Given the description of an element on the screen output the (x, y) to click on. 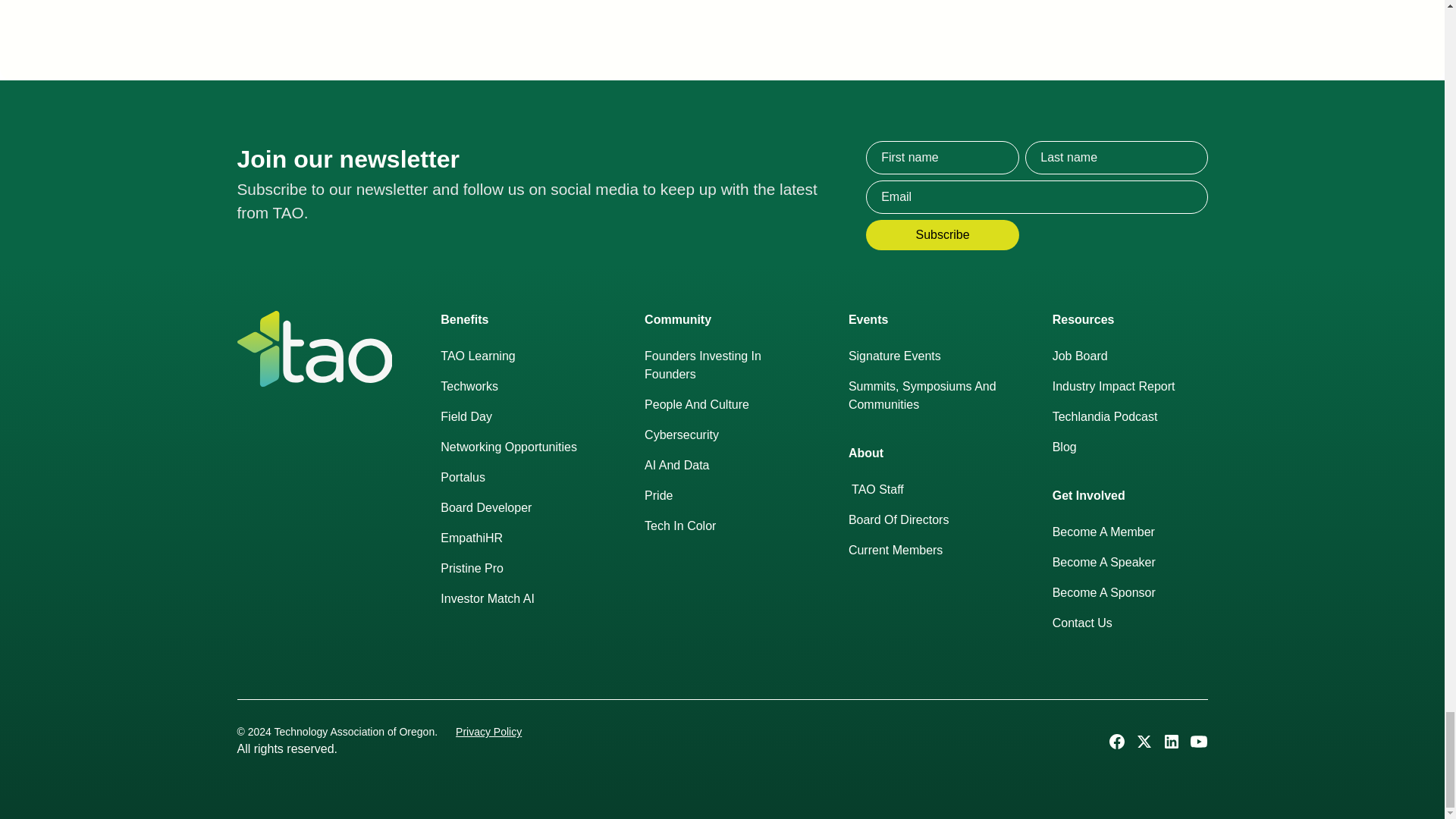
Subscribe (942, 235)
